Given the description of an element on the screen output the (x, y) to click on. 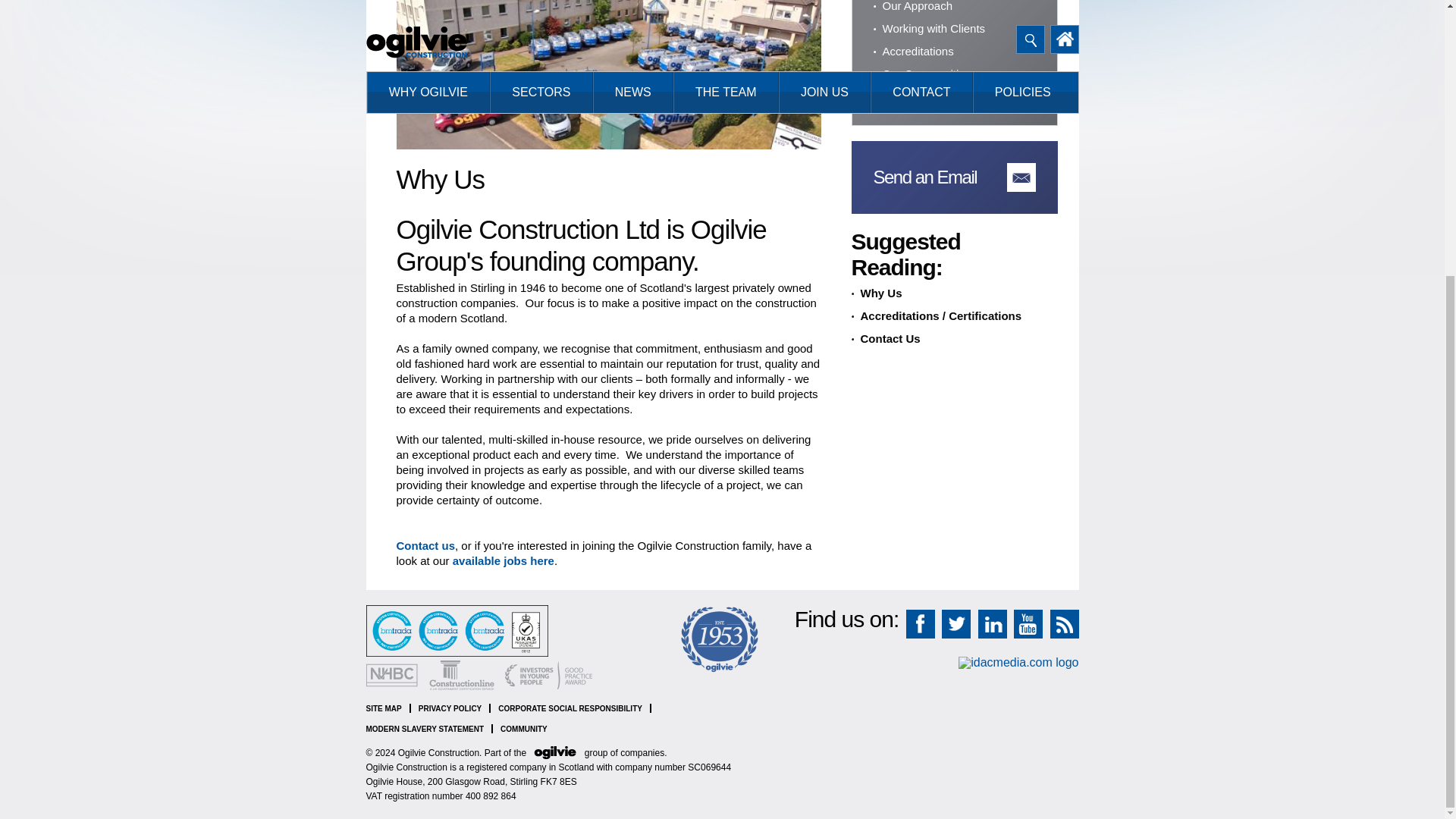
Our RSS Feed (1063, 623)
Find us on Facebook (919, 623)
Find us on Youtube (1027, 623)
Ogilvie Construction jobs in Scotland (503, 560)
Find us on Twitter (956, 623)
Contact Ogilvie Construction (425, 545)
Find us on LinkedIn (992, 623)
